Given the description of an element on the screen output the (x, y) to click on. 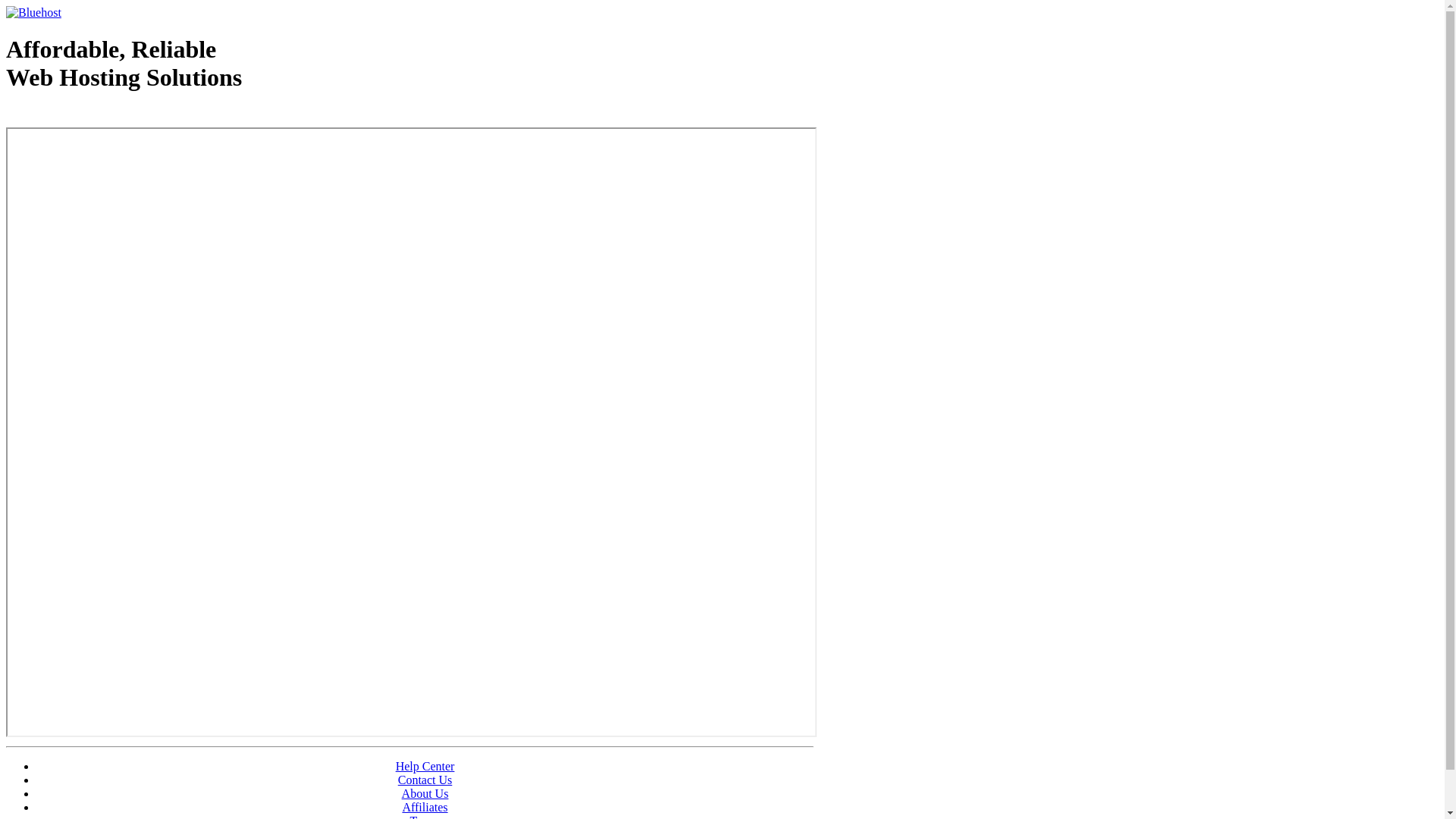
About Us Element type: text (424, 793)
Web Hosting - courtesy of www.bluehost.com Element type: text (94, 115)
Contact Us Element type: text (425, 779)
Affiliates Element type: text (424, 806)
Help Center Element type: text (425, 765)
